Given the description of an element on the screen output the (x, y) to click on. 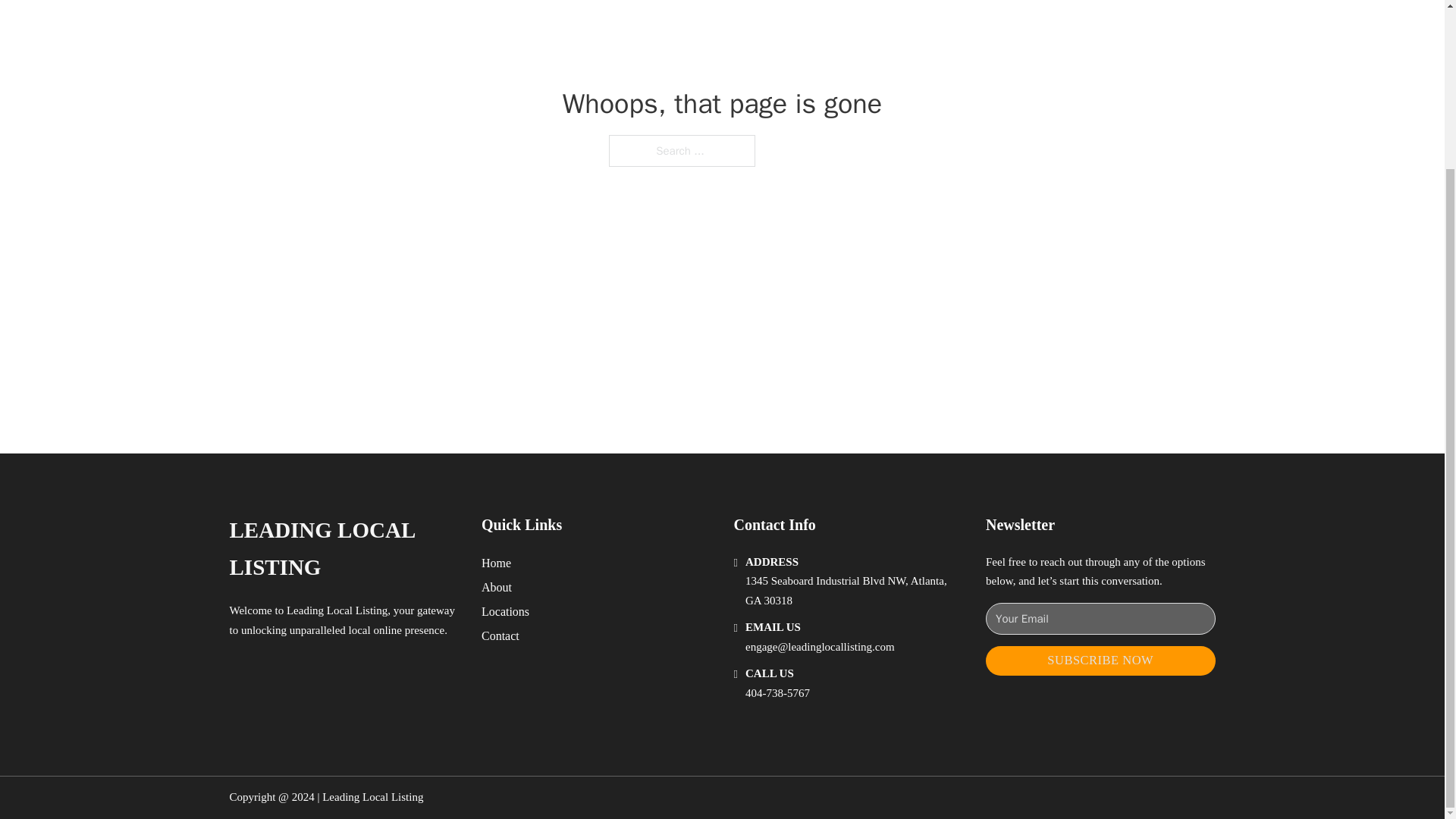
LEADING LOCAL LISTING (343, 549)
Home (496, 562)
About (496, 587)
404-738-5767 (777, 693)
Locations (505, 611)
Contact (500, 635)
SUBSCRIBE NOW (1100, 660)
